Given the description of an element on the screen output the (x, y) to click on. 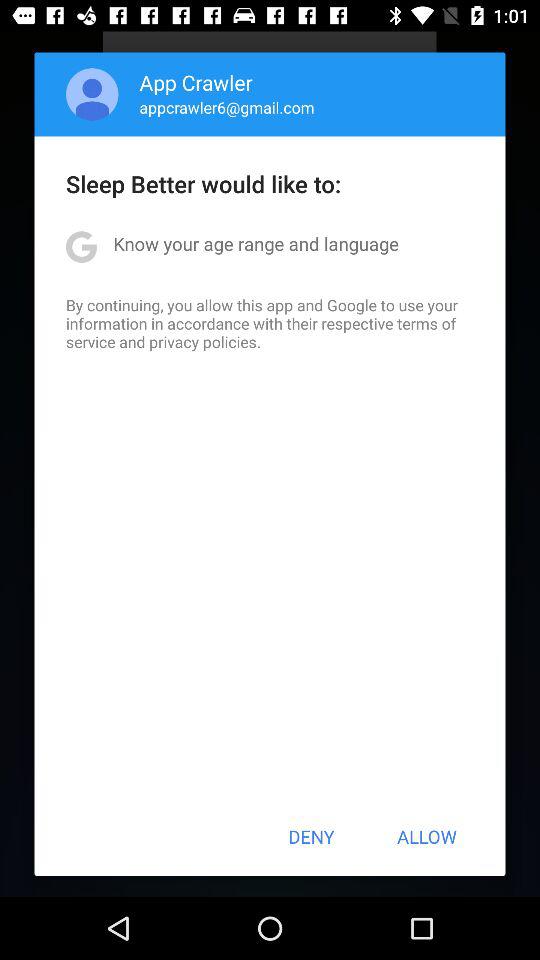
click the icon below by continuing you (311, 836)
